Given the description of an element on the screen output the (x, y) to click on. 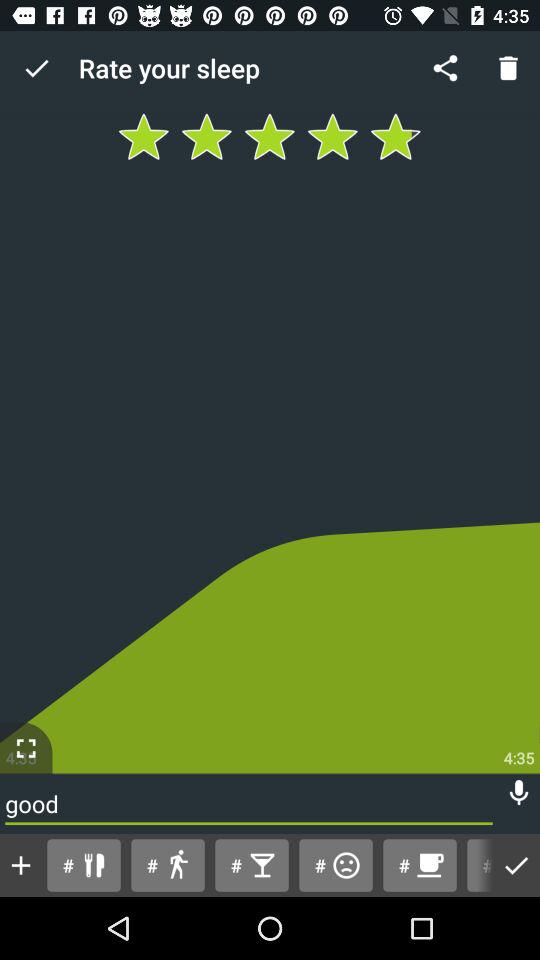
turn on voice recording (519, 792)
